Given the description of an element on the screen output the (x, y) to click on. 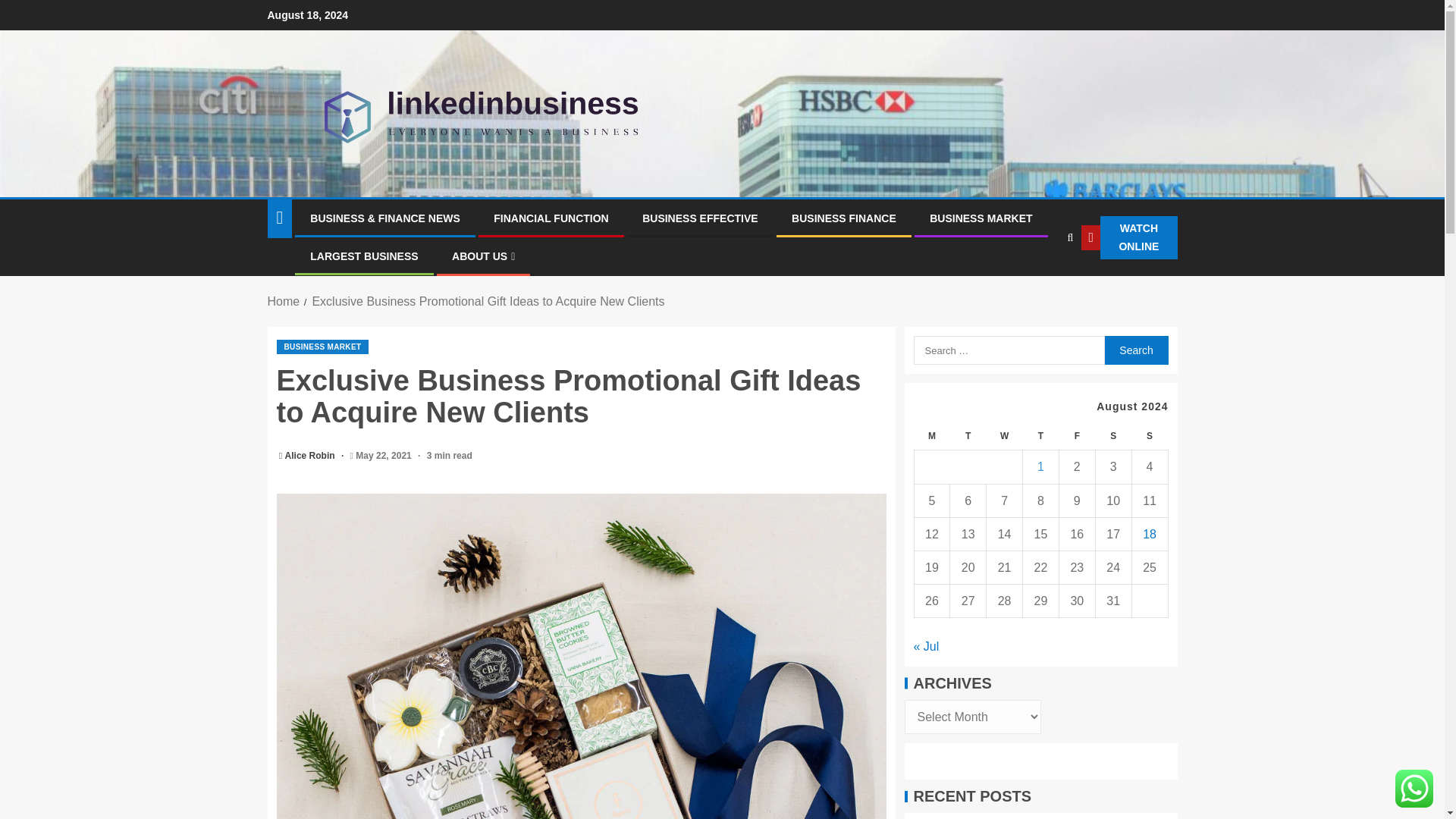
BUSINESS MARKET (322, 346)
Search (1038, 284)
Thursday (1041, 436)
Search (1135, 349)
BUSINESS EFFECTIVE (699, 218)
LARGEST BUSINESS (363, 256)
Search (1135, 349)
Friday (1076, 436)
FINANCIAL FUNCTION (550, 218)
